Given the description of an element on the screen output the (x, y) to click on. 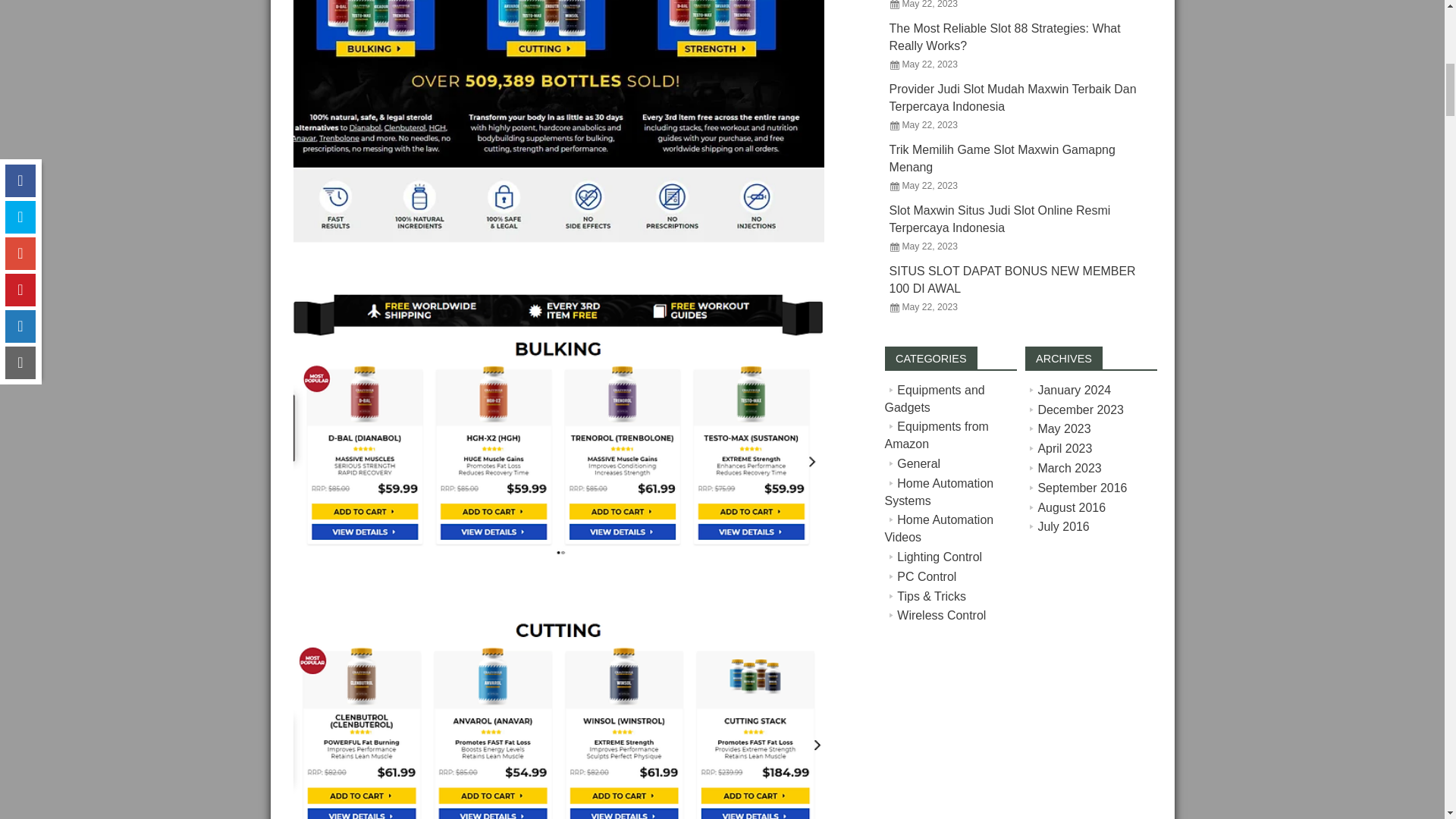
visceral anavar fat for (559, 121)
for visceral fat anavar (559, 714)
